Given the description of an element on the screen output the (x, y) to click on. 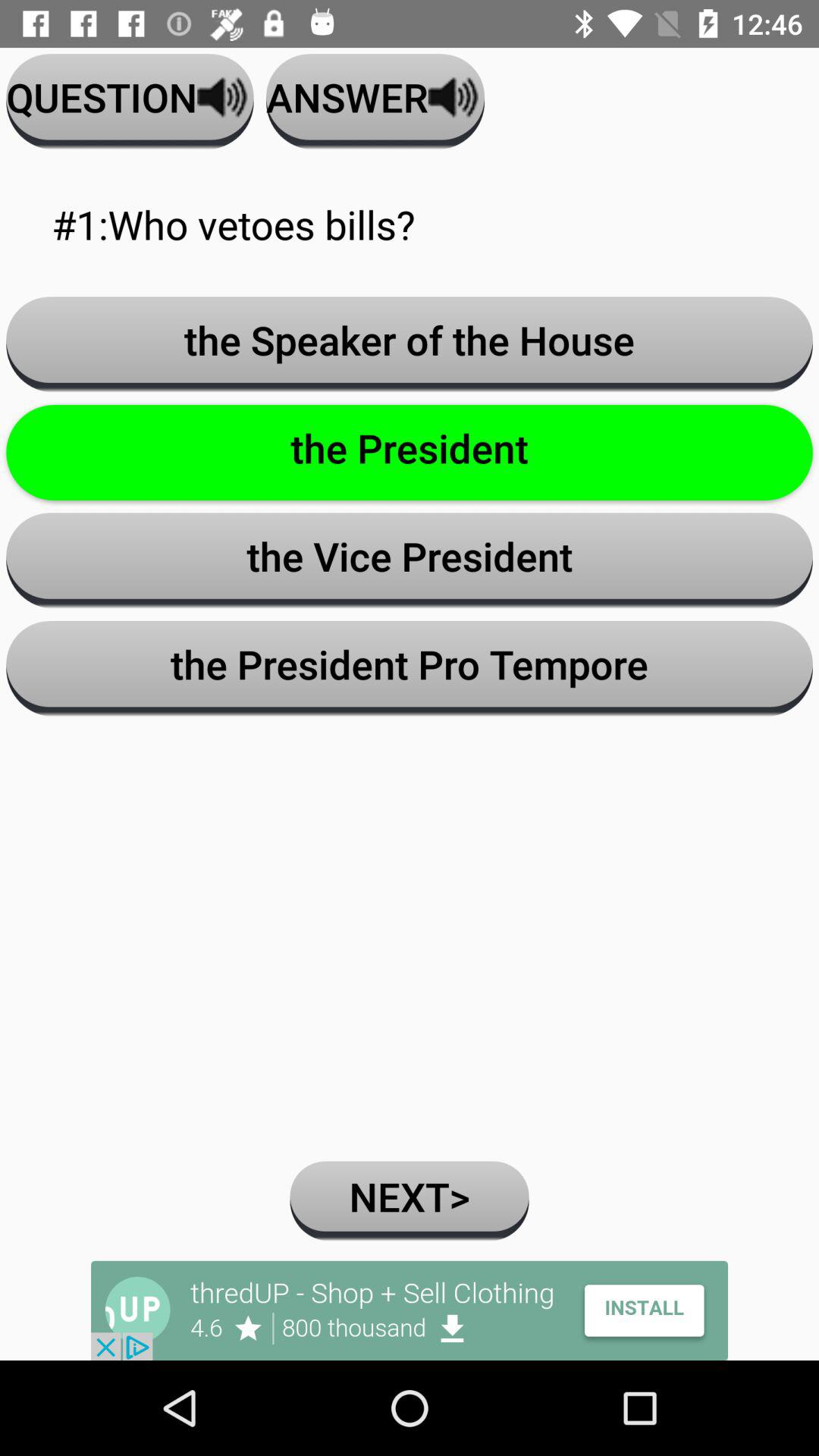
app install (409, 1310)
